Given the description of an element on the screen output the (x, y) to click on. 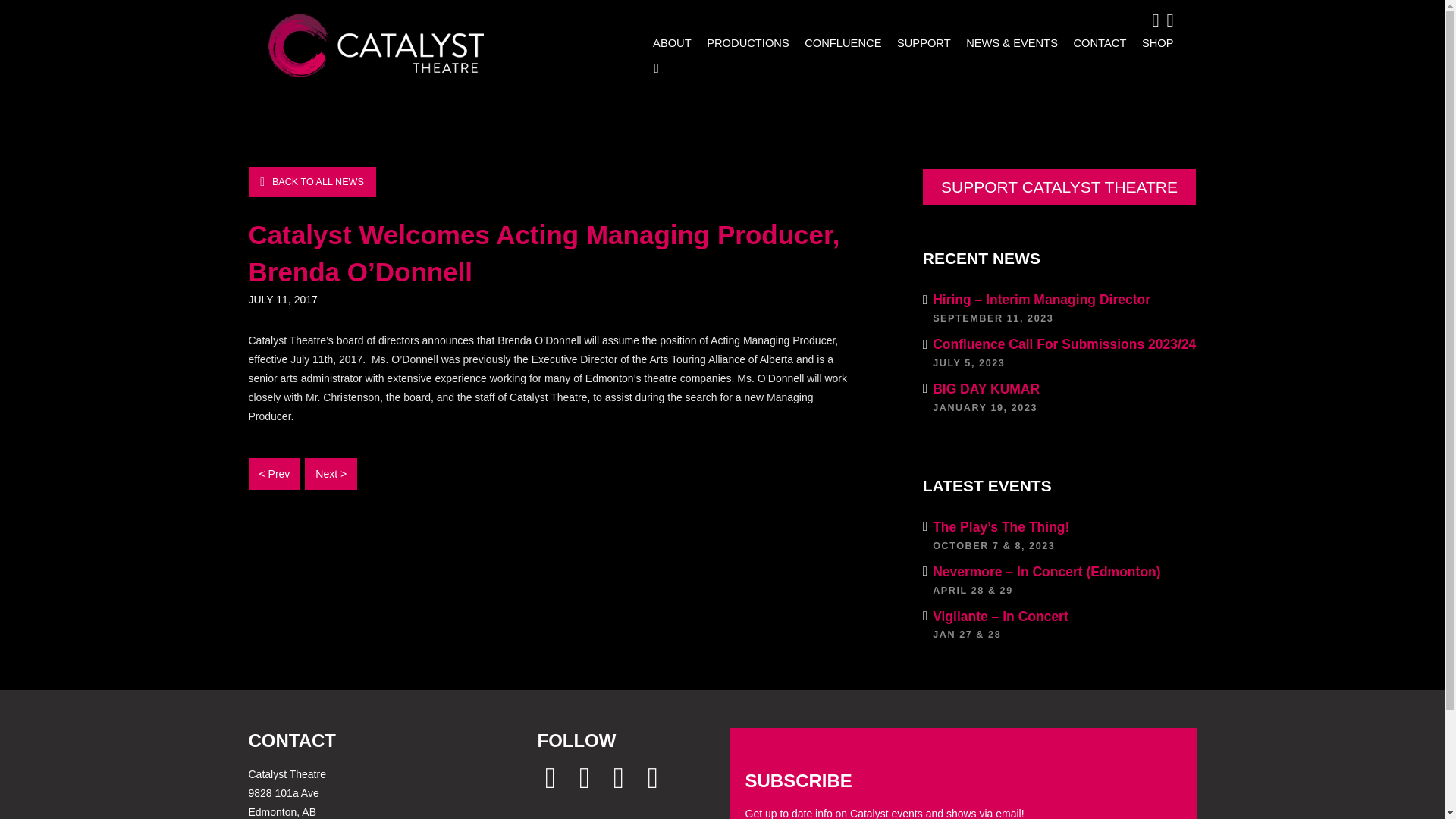
BACK TO ALL NEWS (311, 182)
ABOUT (668, 42)
SHOP (1152, 42)
PRODUCTIONS (1059, 397)
SUPPORT (744, 42)
CONFLUENCE (919, 42)
CONTACT (839, 42)
SUPPORT CATALYST THEATRE (1095, 42)
